Given the description of an element on the screen output the (x, y) to click on. 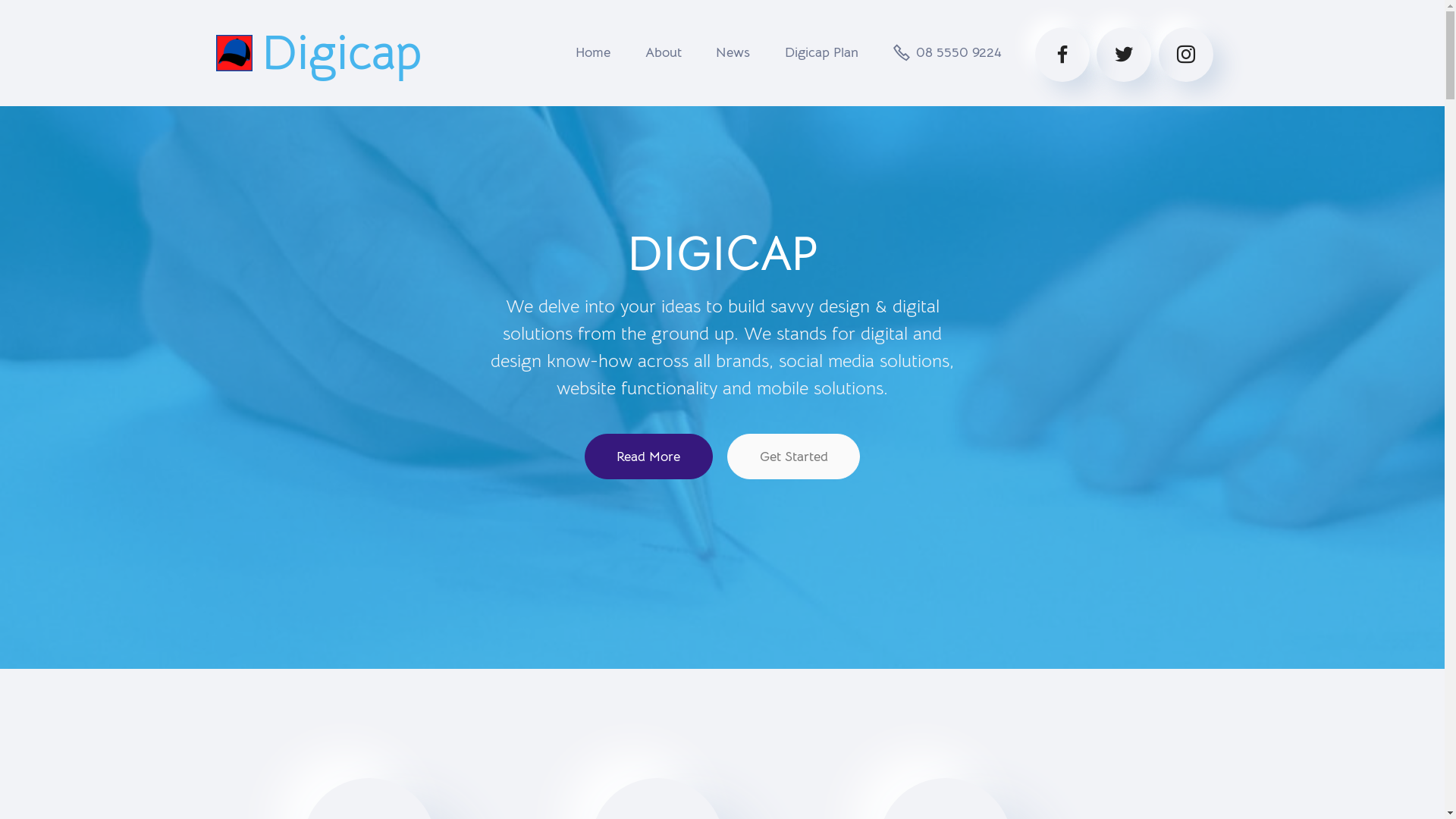
Get Started Element type: text (793, 456)
News Element type: text (733, 52)
Digicap Element type: text (341, 52)
08 5550 9224 Element type: text (947, 52)
About Element type: text (662, 52)
Home Element type: text (593, 52)
Digicap Plan Element type: text (821, 52)
Read More Element type: text (648, 456)
